Given the description of an element on the screen output the (x, y) to click on. 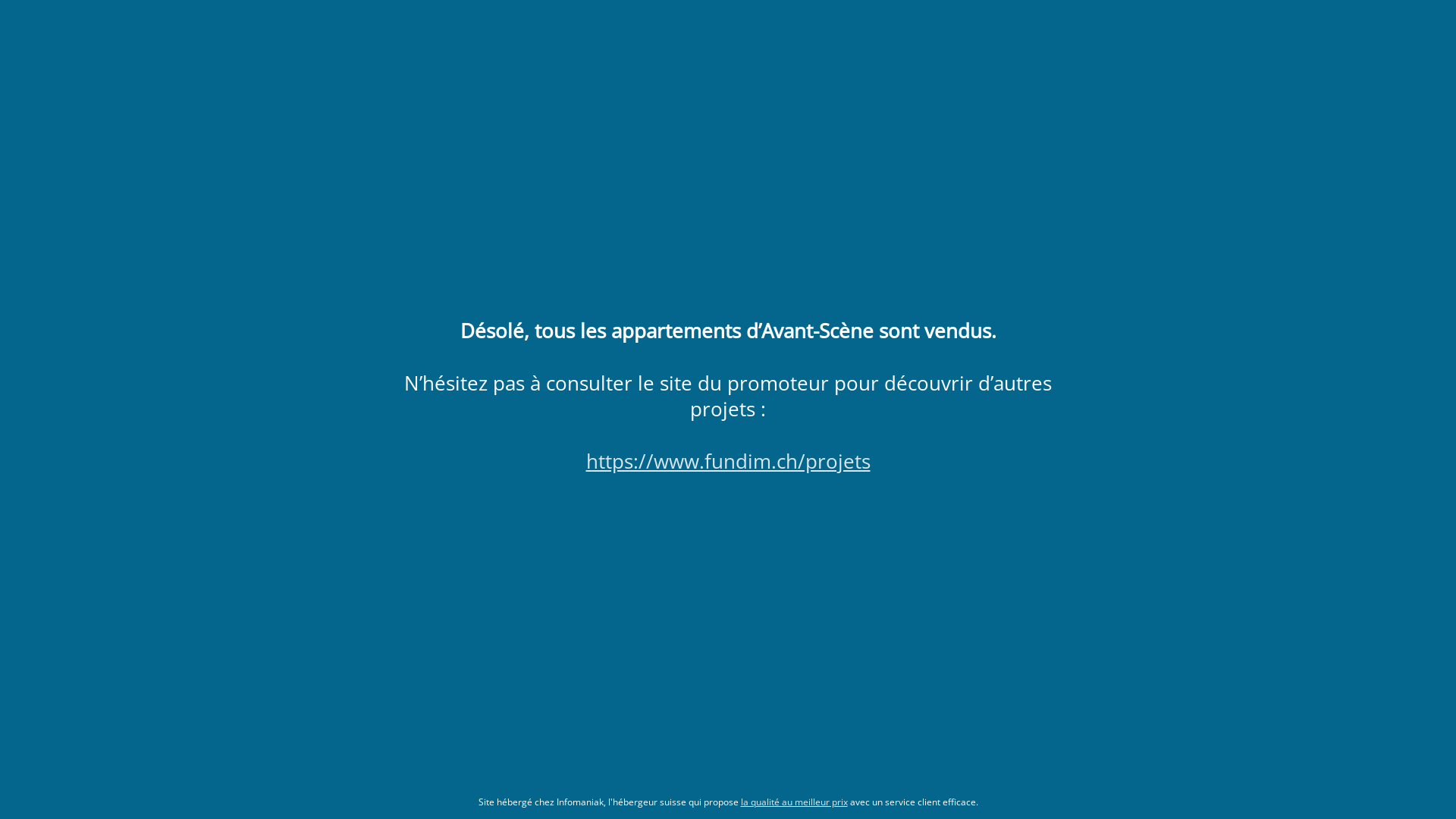
https://www.fundim.ch/projets Element type: text (727, 460)
